Given the description of an element on the screen output the (x, y) to click on. 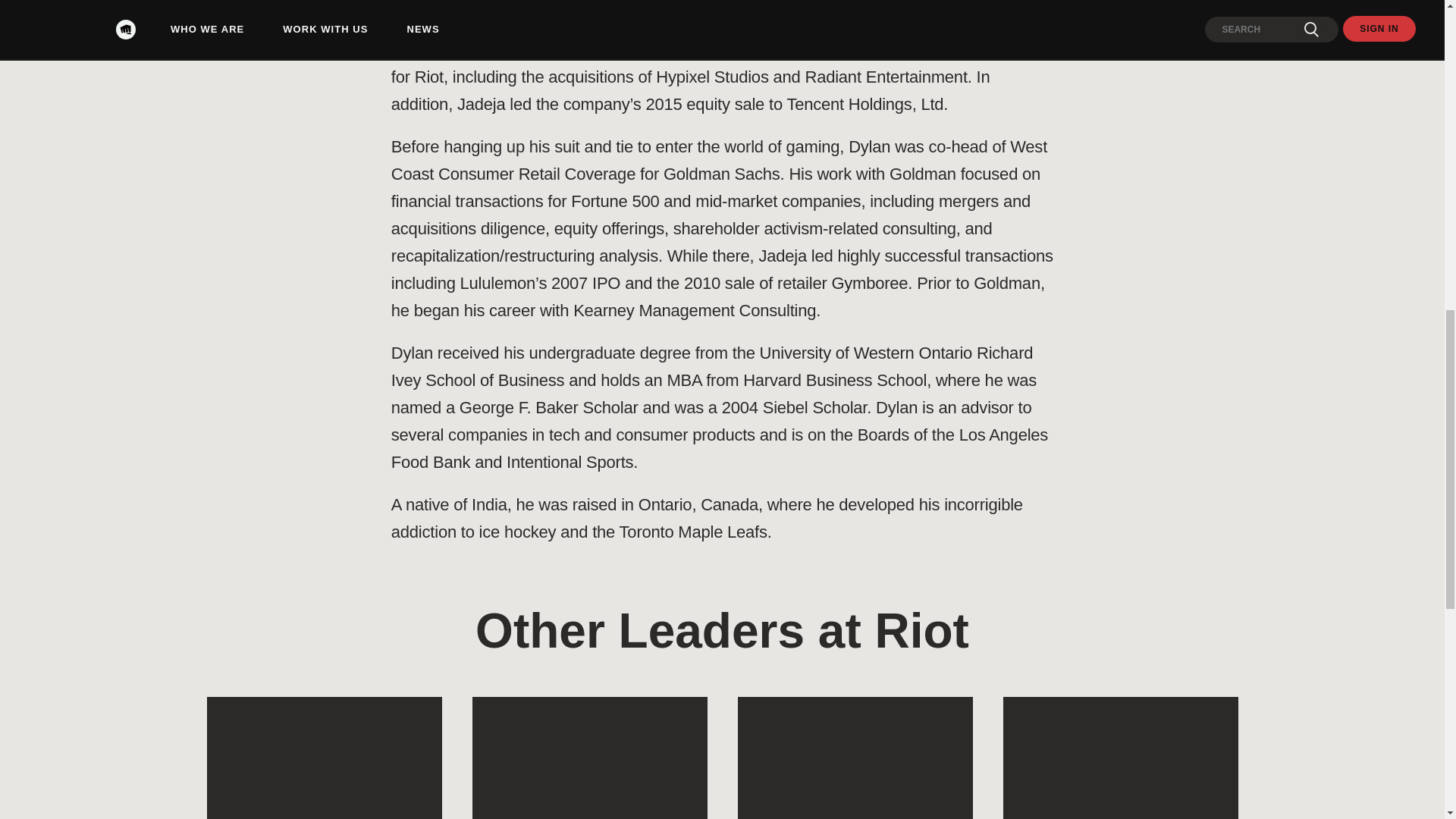
Shauna Spenley (854, 757)
Emily Winkle (1120, 757)
Marc Merrill (323, 757)
Brandon Beck (588, 757)
